Given the description of an element on the screen output the (x, y) to click on. 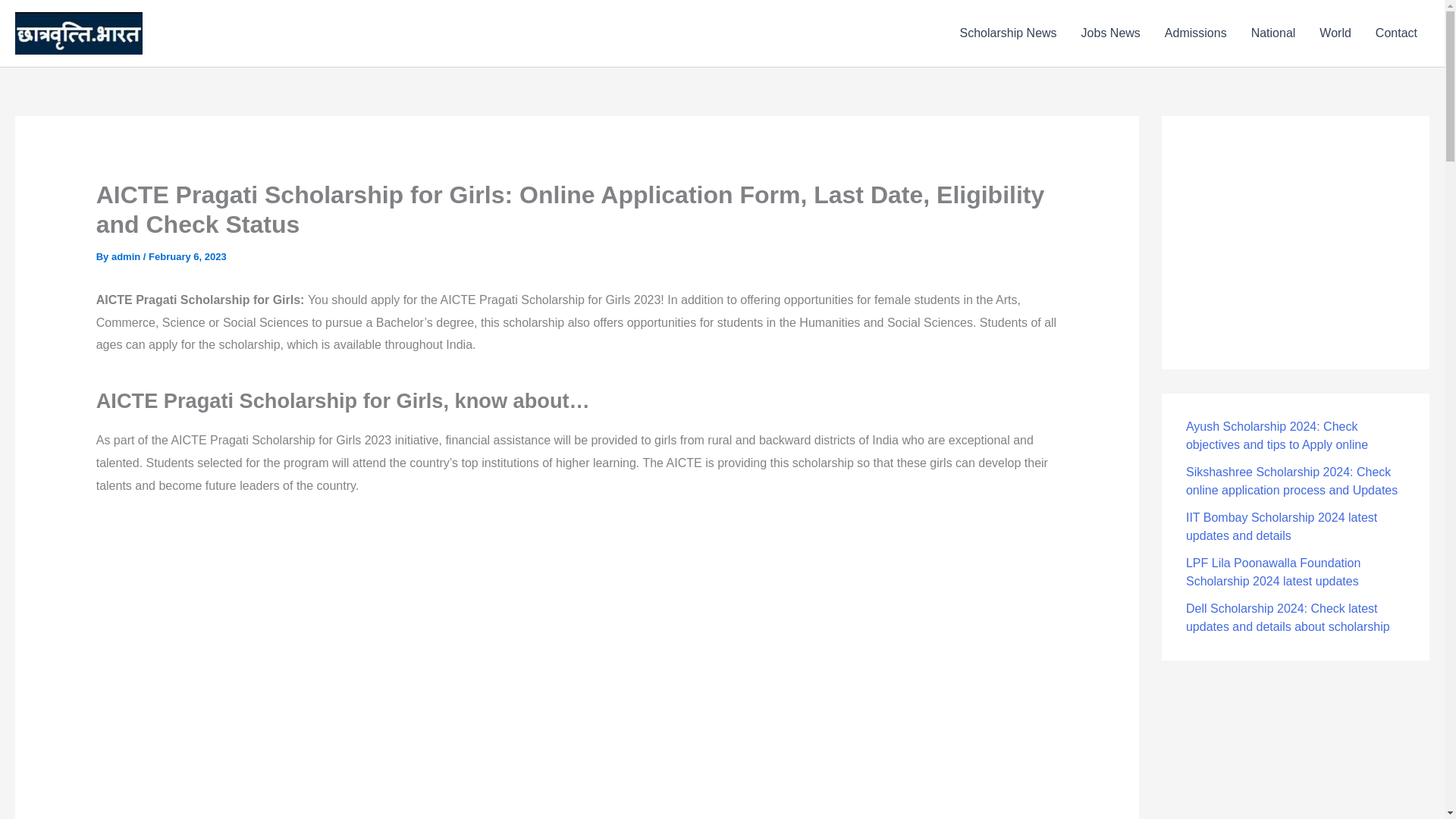
Scholarship News (1007, 33)
Admissions (1196, 33)
World (1334, 33)
View all posts by admin (127, 256)
admin (127, 256)
Contact (1395, 33)
Jobs News (1110, 33)
National (1273, 33)
